Given the description of an element on the screen output the (x, y) to click on. 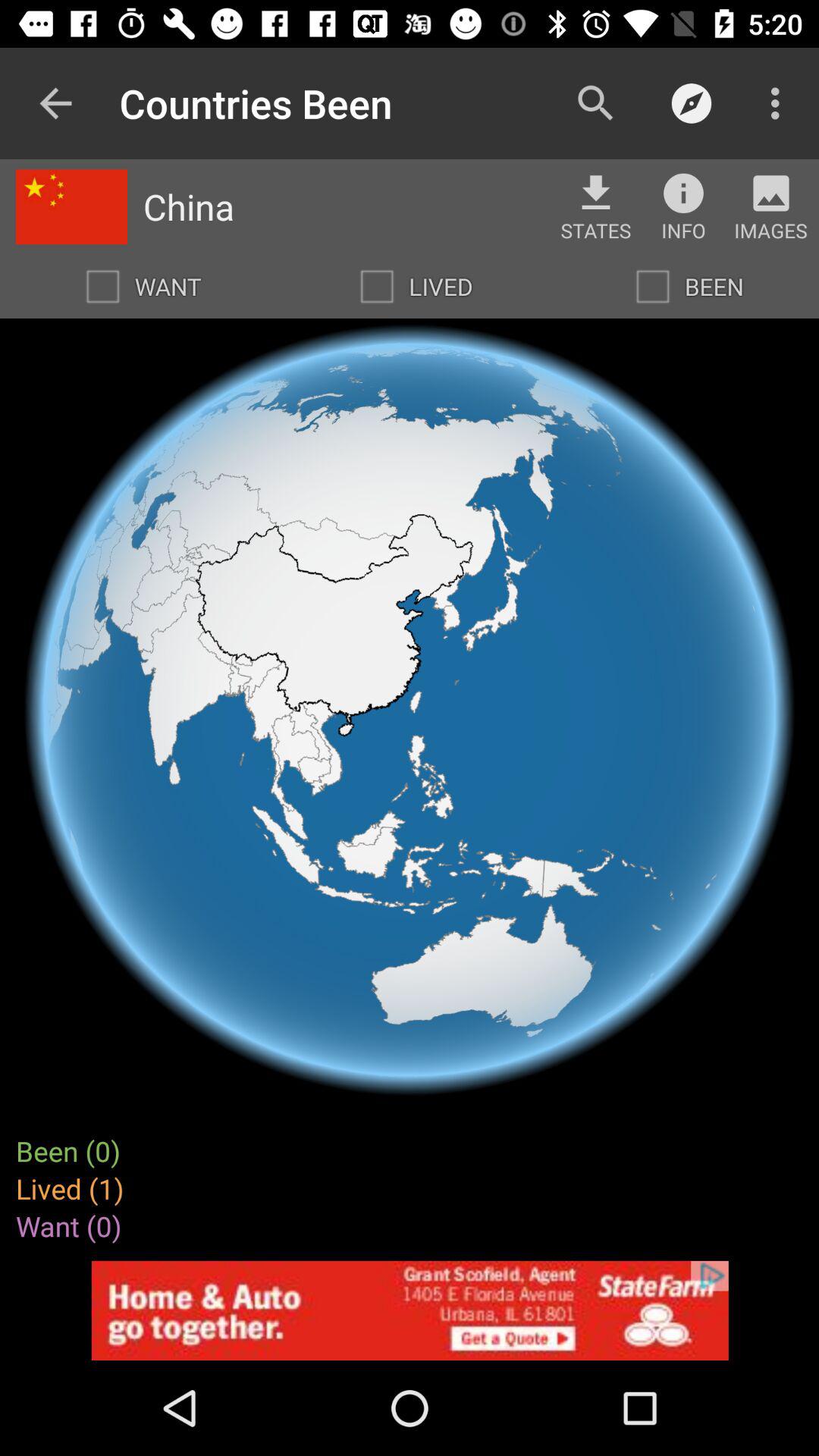
show information (683, 193)
